Given the description of an element on the screen output the (x, y) to click on. 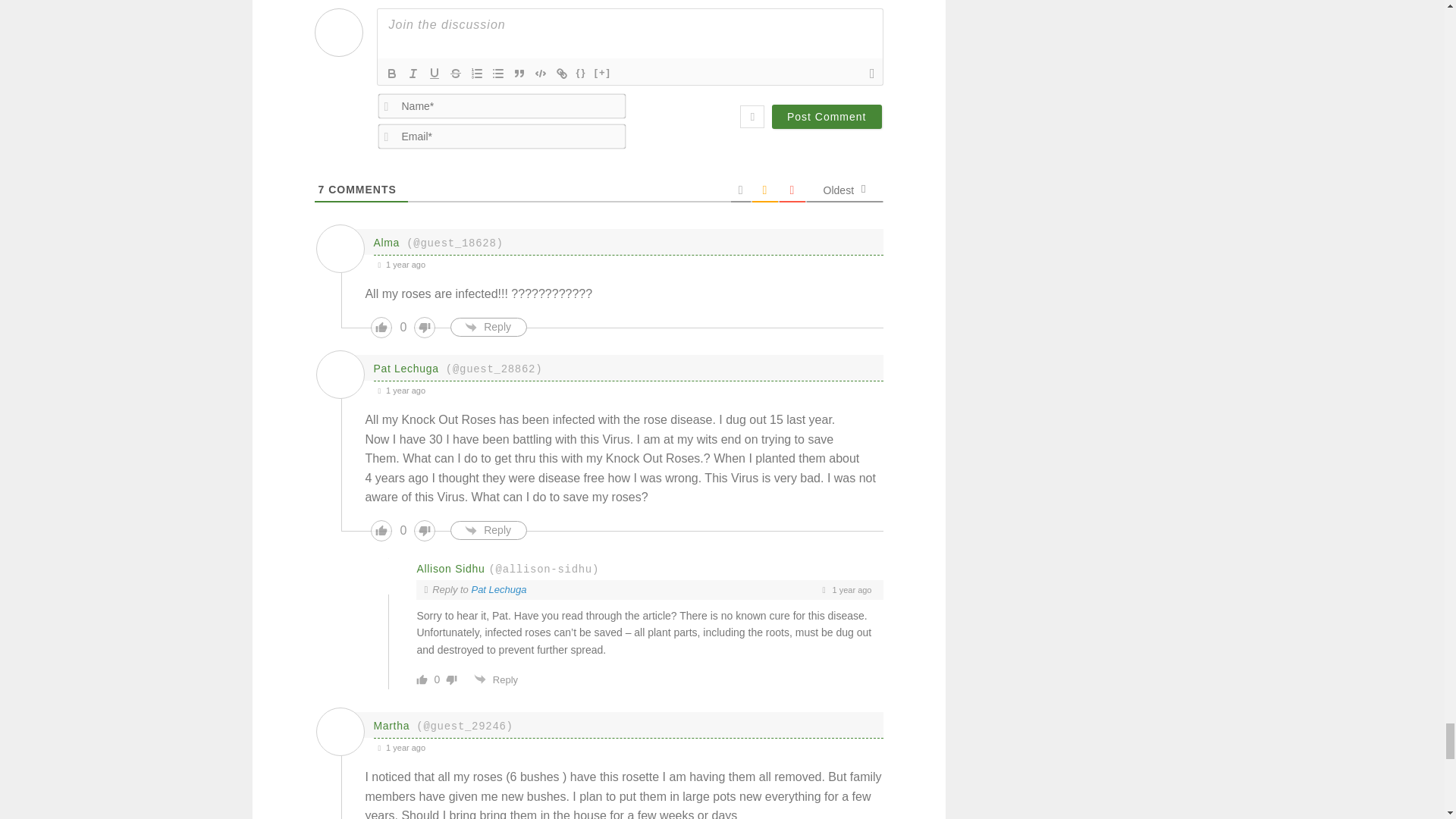
Post Comment (826, 116)
Bold (390, 73)
Italic (412, 73)
